Given the description of an element on the screen output the (x, y) to click on. 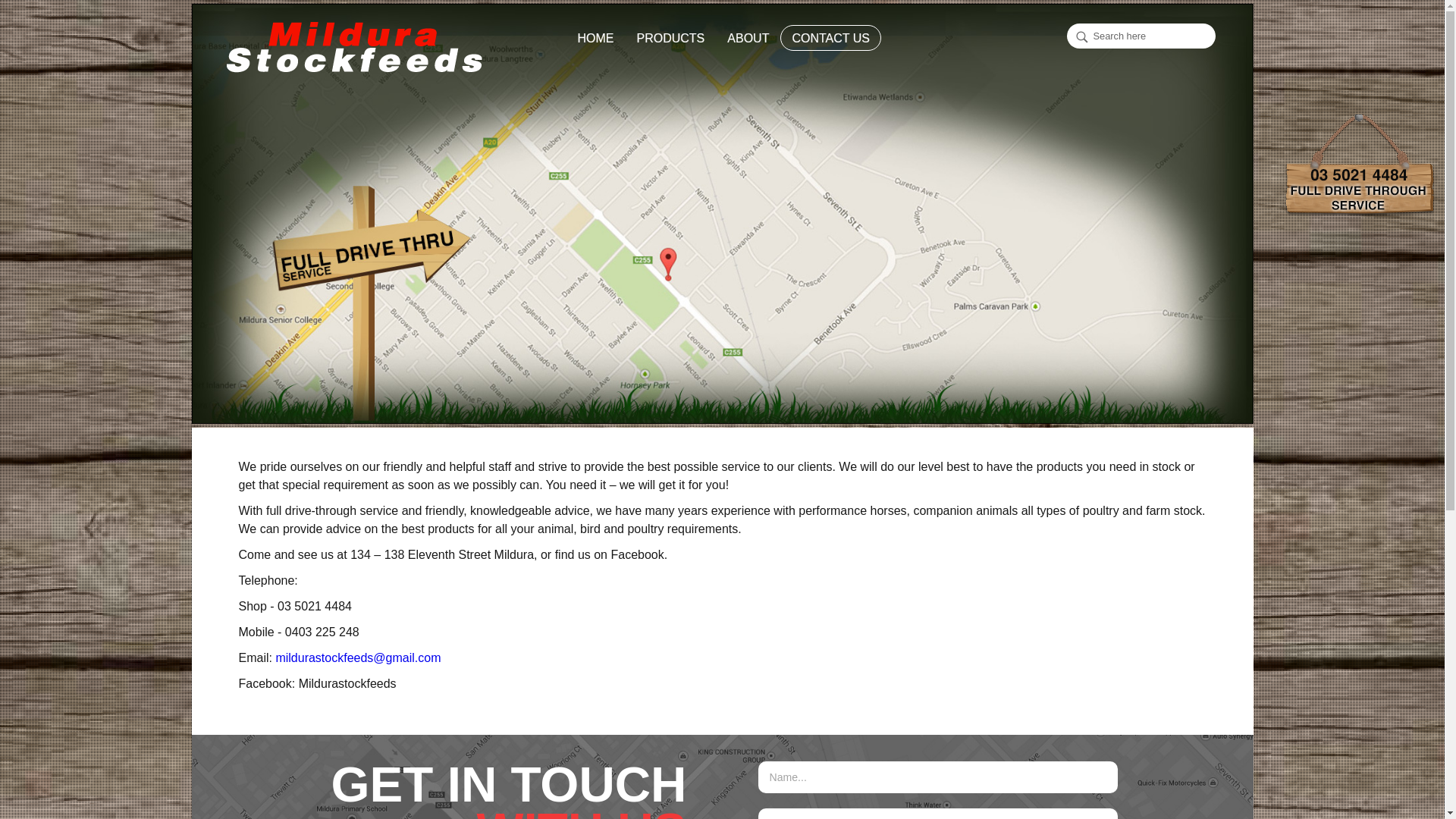
ABOUT Element type: text (747, 37)
mildurastockfeeds@gmail.com Element type: text (357, 657)
PRODUCTS Element type: text (670, 37)
CONTACT US Element type: text (830, 37)
PRODUCTS Element type: text (671, 37)
HOME Element type: text (595, 37)
HOME Element type: text (595, 37)
CONTACT US Element type: text (830, 37)
Name... Element type: text (938, 777)
ABOUT Element type: text (747, 37)
